Given the description of an element on the screen output the (x, y) to click on. 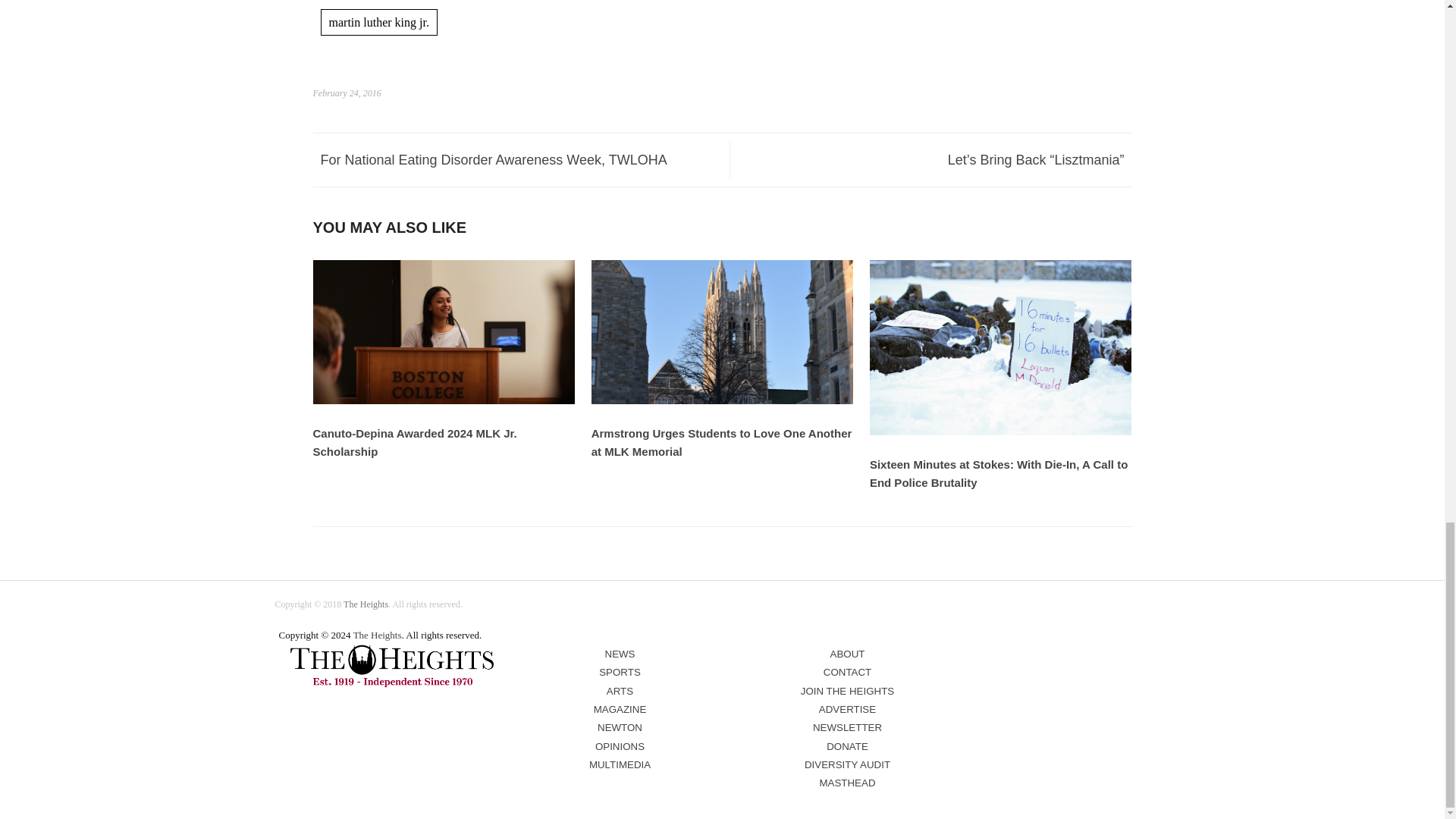
The Heights (365, 603)
martin luther king jr. (378, 22)
Armstrong Urges Students to Love One Another at MLK Memorial (722, 400)
Canuto-Depina Awarded 2024 MLK Jr. Scholarship (444, 400)
compromise2 (392, 666)
The Heights (377, 634)
